Given the description of an element on the screen output the (x, y) to click on. 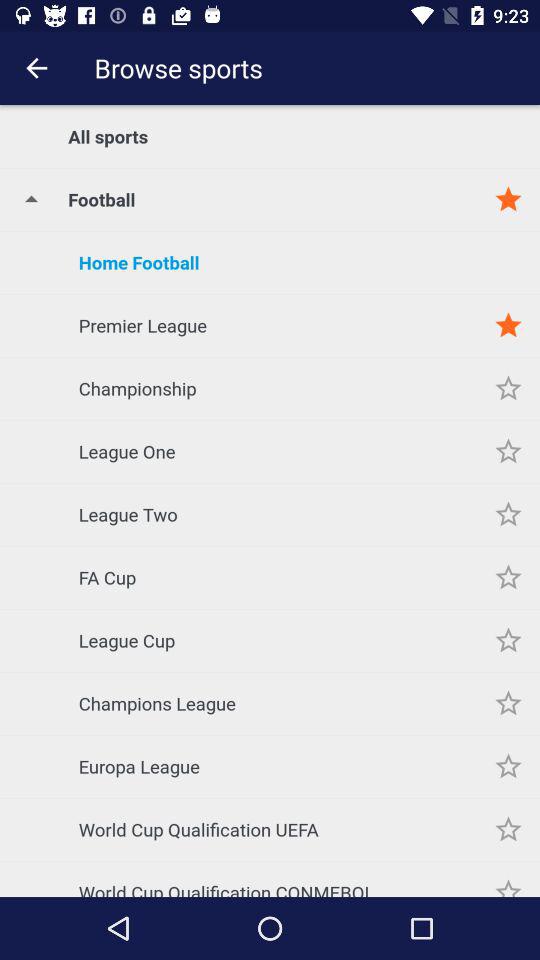
mark premier league as favorite (508, 325)
